Given the description of an element on the screen output the (x, y) to click on. 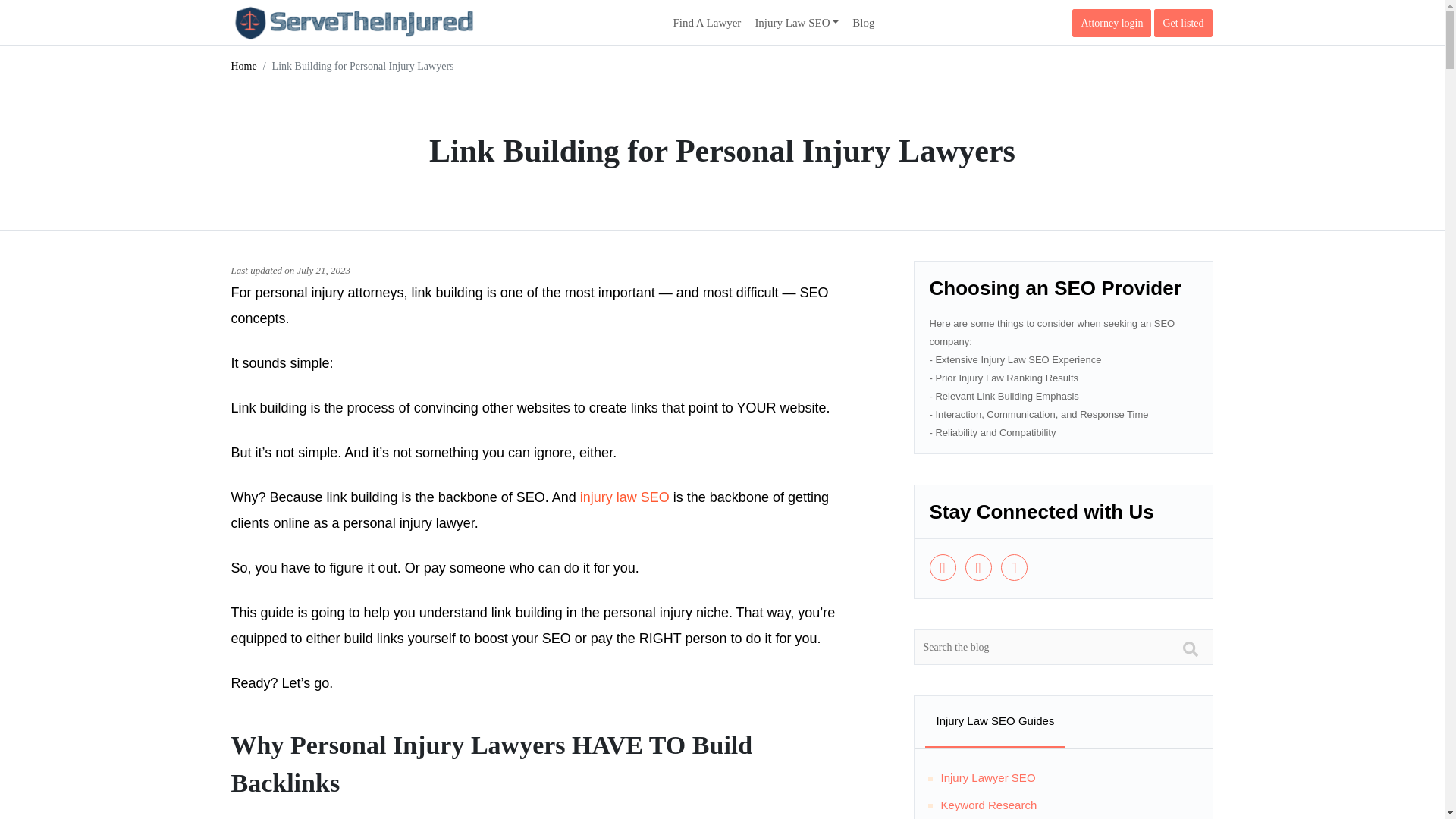
Home (243, 66)
Injury Law SEO Guides (995, 720)
Find A Lawyer (706, 22)
Injury Law SEO (796, 22)
Injury Lawyer SEO (987, 777)
Attorney login (1111, 22)
Blog (862, 22)
Get listed (1182, 22)
injury law SEO (624, 497)
Keyword Research (988, 804)
